Given the description of an element on the screen output the (x, y) to click on. 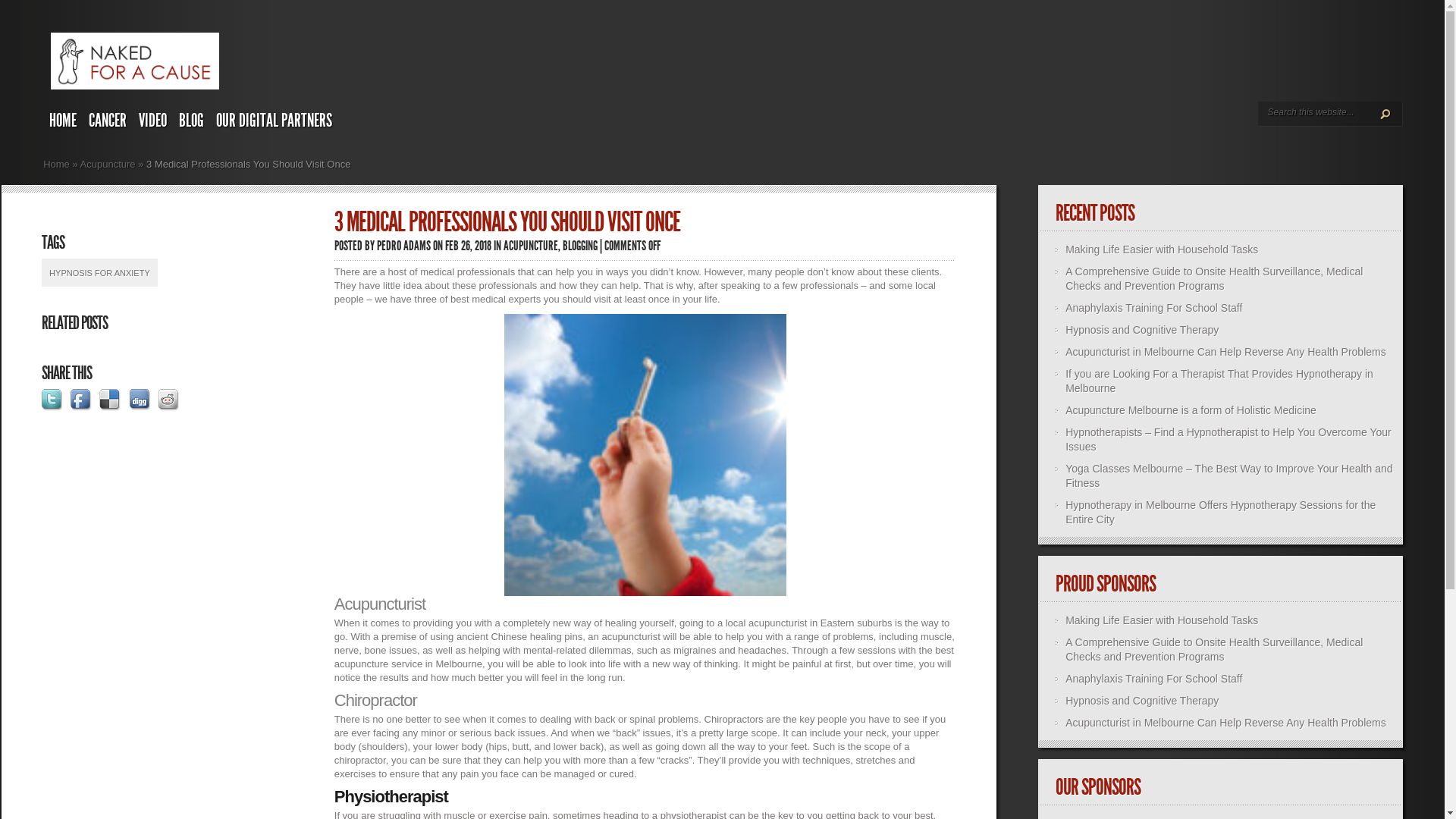
Acupuncture Melbourne is a form of Holistic Medicine Element type: text (1190, 410)
Anaphylaxis Training For School Staff Element type: text (1153, 678)
PEDRO ADAMS Element type: text (403, 245)
Home Element type: text (56, 163)
Hypnosis and Cognitive Therapy Element type: text (1141, 329)
Hypnosis and Cognitive Therapy Element type: text (1141, 700)
HYPNOSIS FOR ANXIETY Element type: text (99, 272)
Making Life Easier with Household Tasks Element type: text (1161, 249)
CANCER Element type: text (107, 122)
Making Life Easier with Household Tasks Element type: text (1161, 620)
BLOGGING Element type: text (579, 245)
BLOG Element type: text (191, 122)
ACUPUNCTURE Element type: text (530, 245)
Acupuncture Element type: text (107, 163)
OUR DIGITAL PARTNERS Element type: text (274, 122)
VIDEO Element type: text (152, 122)
Anaphylaxis Training For School Staff Element type: text (1153, 307)
HOME Element type: text (62, 122)
